Given the description of an element on the screen output the (x, y) to click on. 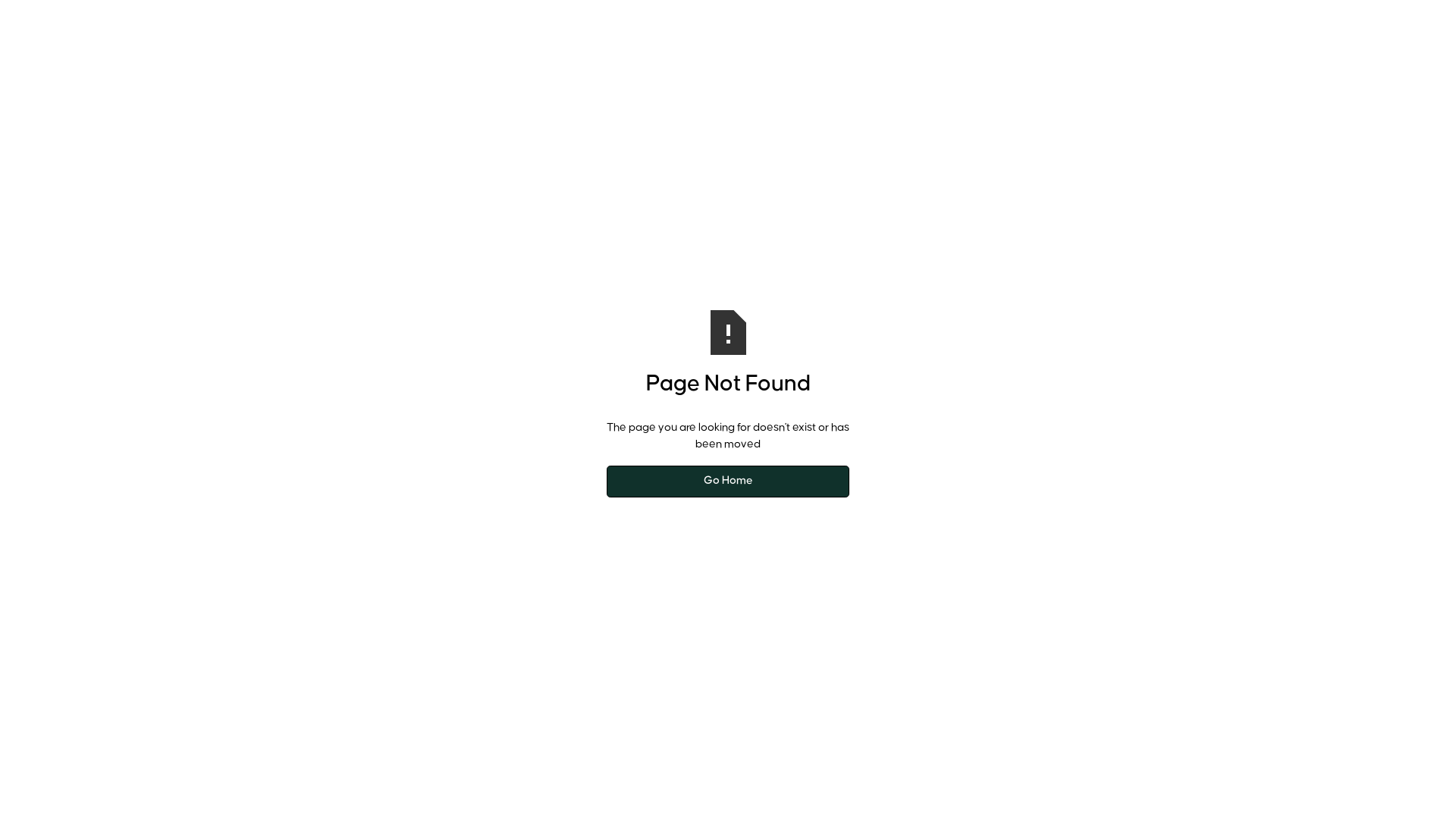
Go Home Element type: text (727, 481)
